Given the description of an element on the screen output the (x, y) to click on. 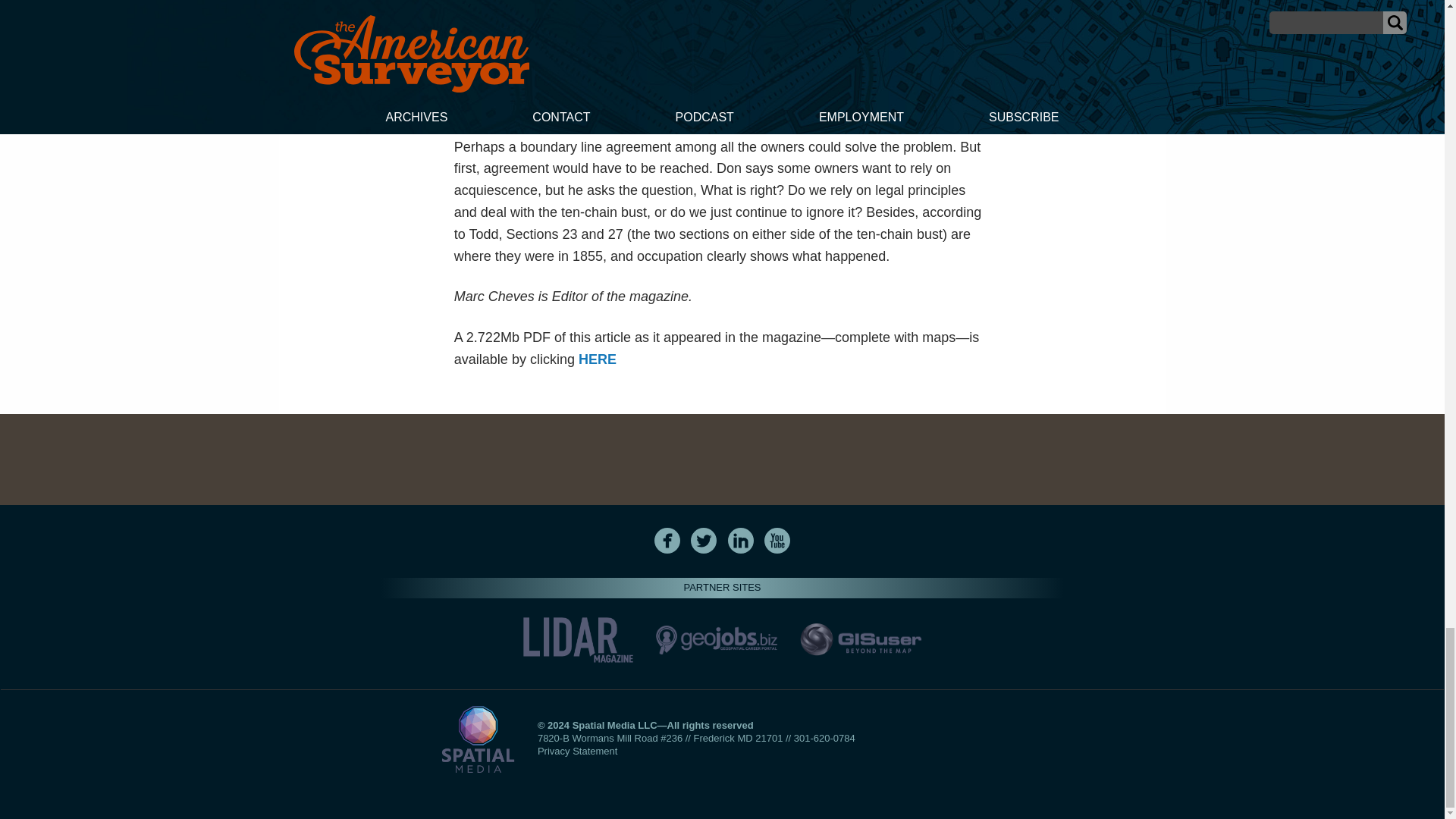
icon-sm-twitter (703, 540)
3rd party ad content (721, 459)
icon-sm-fb (666, 540)
Privacy Statement (577, 750)
HERE (596, 359)
icon-sm-linkedin (740, 540)
icon-sm-youtube (777, 540)
icon-sm-fb (667, 540)
icon-sm-linkedin (741, 540)
icon-sm-twitter (703, 540)
icon-sm-youtube (776, 540)
